Given the description of an element on the screen output the (x, y) to click on. 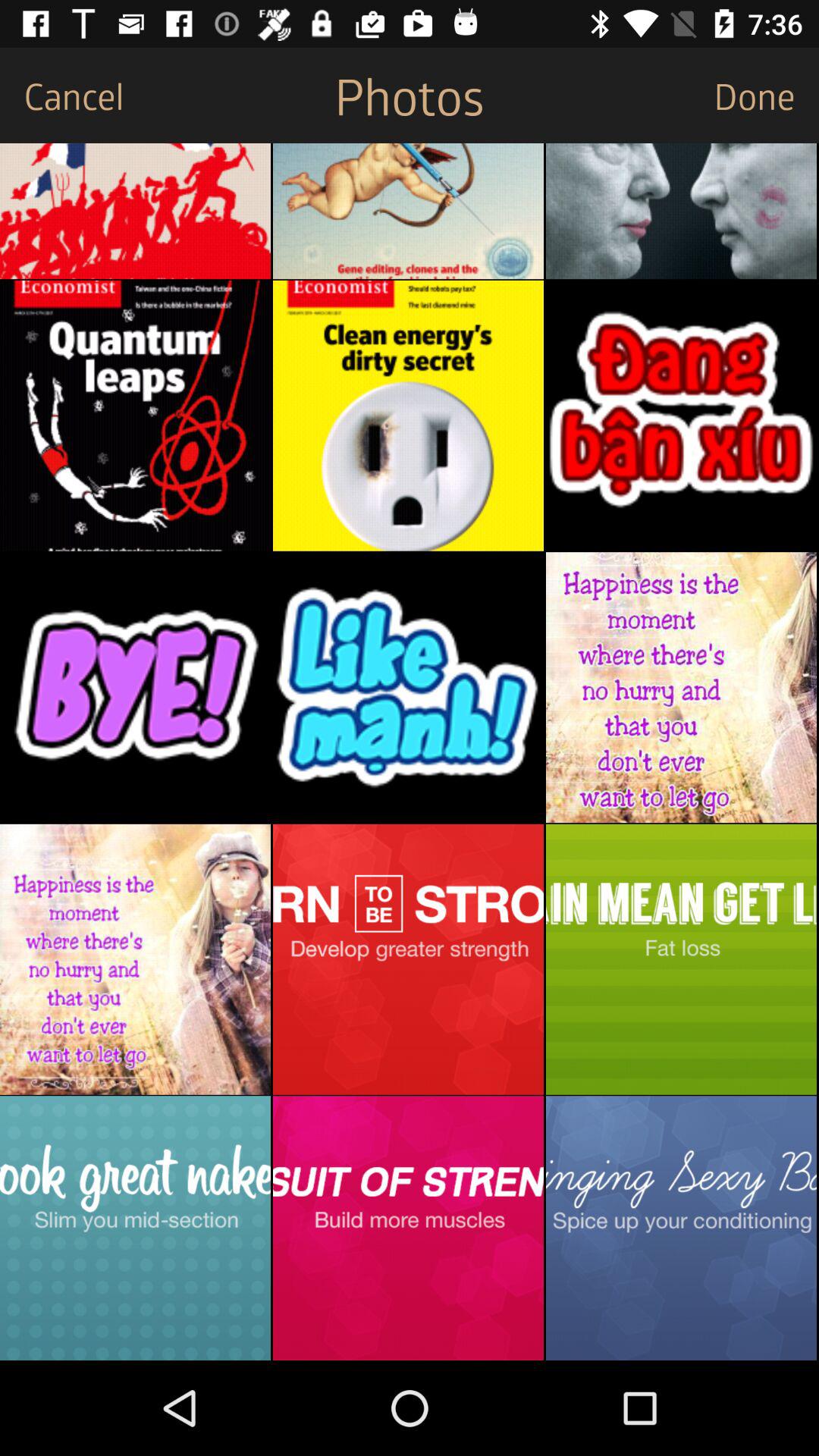
select the photo (408, 959)
